Given the description of an element on the screen output the (x, y) to click on. 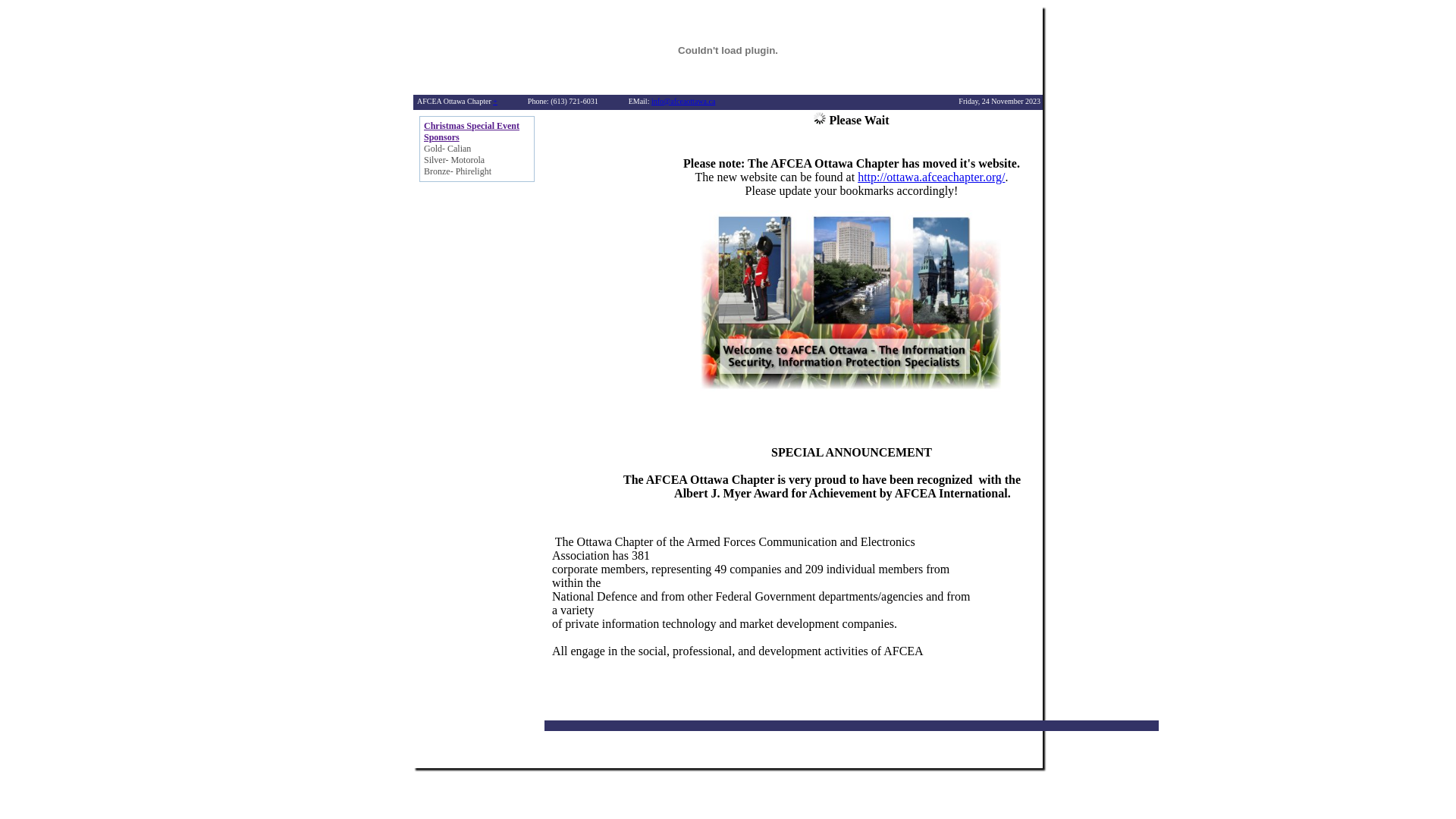
Christmas Special Event Sponsors Element type: text (471, 131)
info@afceaottawa.ca Element type: text (683, 101)
+ Element type: text (494, 101)
http://ottawa.afceachapter.org/ Element type: text (930, 176)
